Given the description of an element on the screen output the (x, y) to click on. 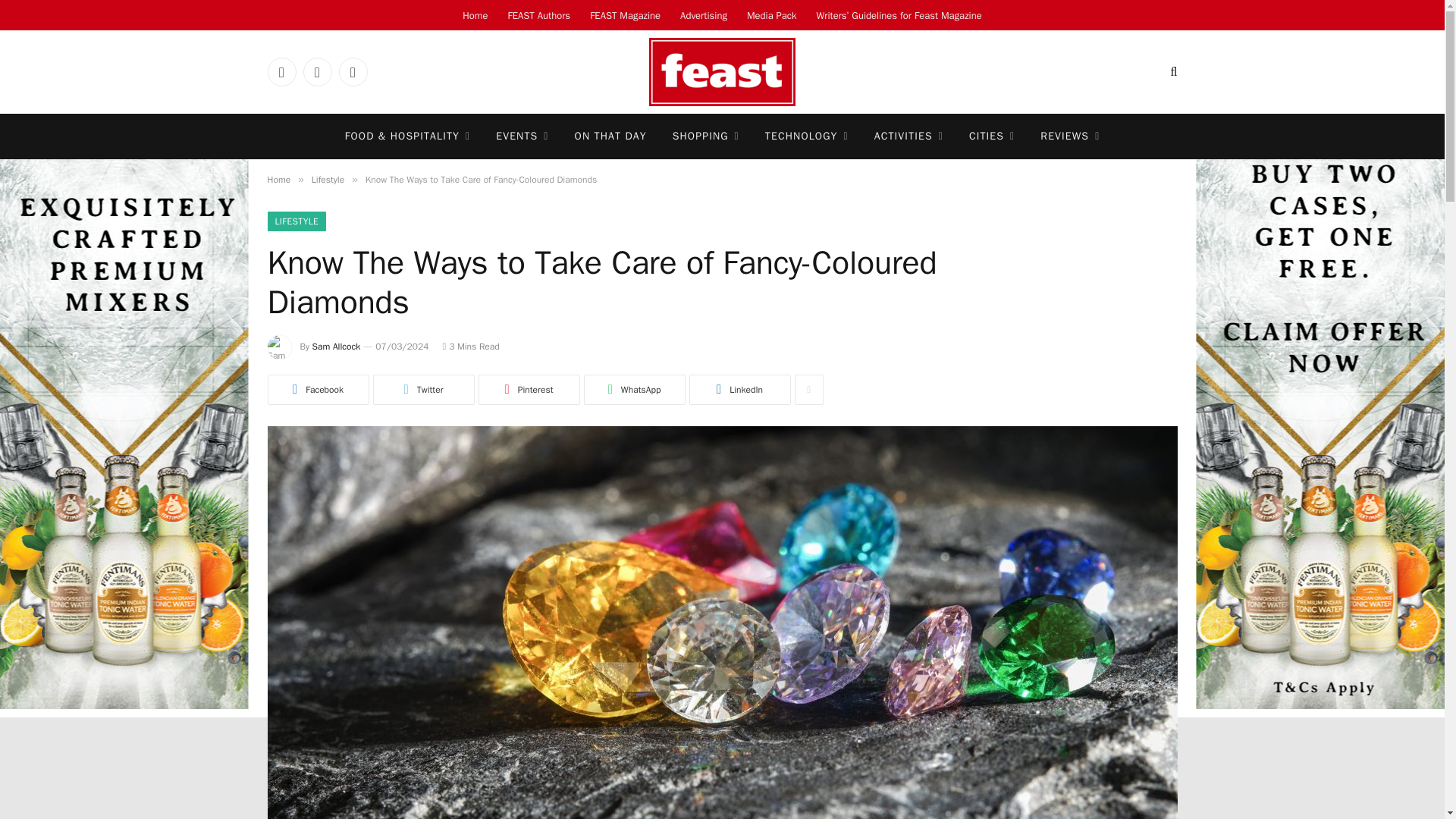
FEAST Magazine (624, 15)
Instagram (351, 71)
FeastMagazine (722, 71)
Home (474, 15)
Media Pack (771, 15)
EVENTS (521, 135)
Advertising (702, 15)
Facebook (280, 71)
FEAST Authors (538, 15)
